Given the description of an element on the screen output the (x, y) to click on. 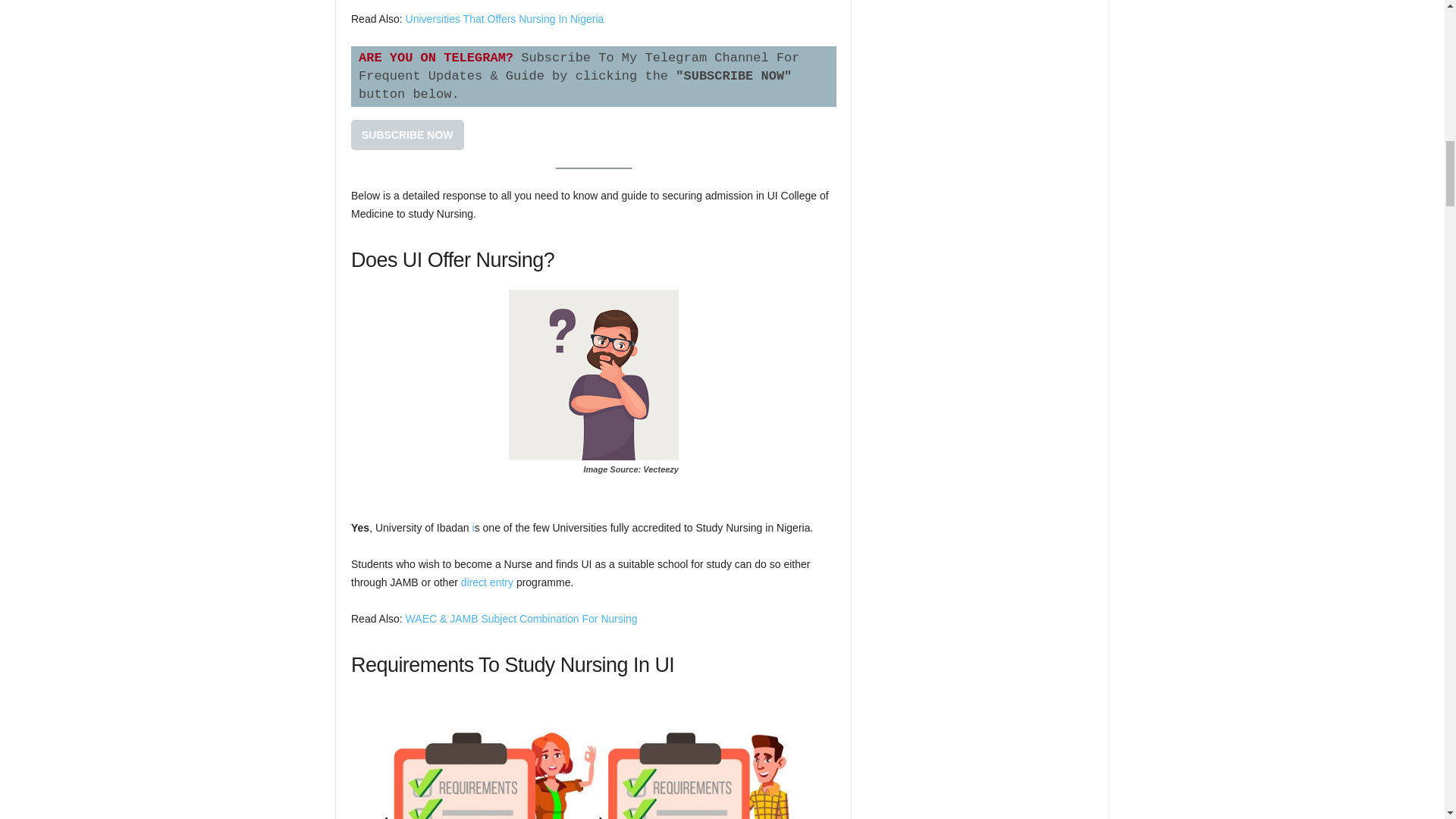
SUBSCRIBE NOW (407, 134)
direct entry (487, 582)
Universities That Offers Nursing In Nigeria (505, 19)
